Given the description of an element on the screen output the (x, y) to click on. 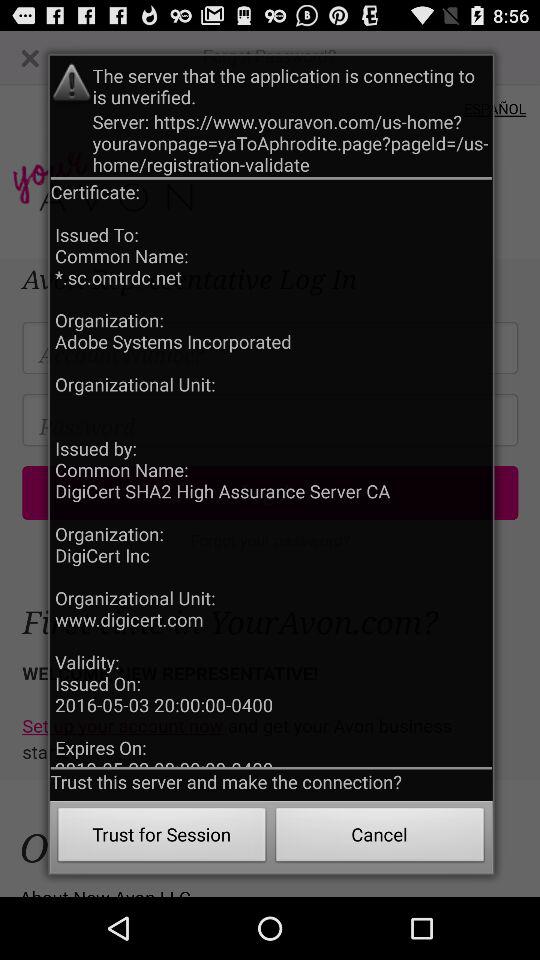
scroll to the cancel icon (380, 837)
